Given the description of an element on the screen output the (x, y) to click on. 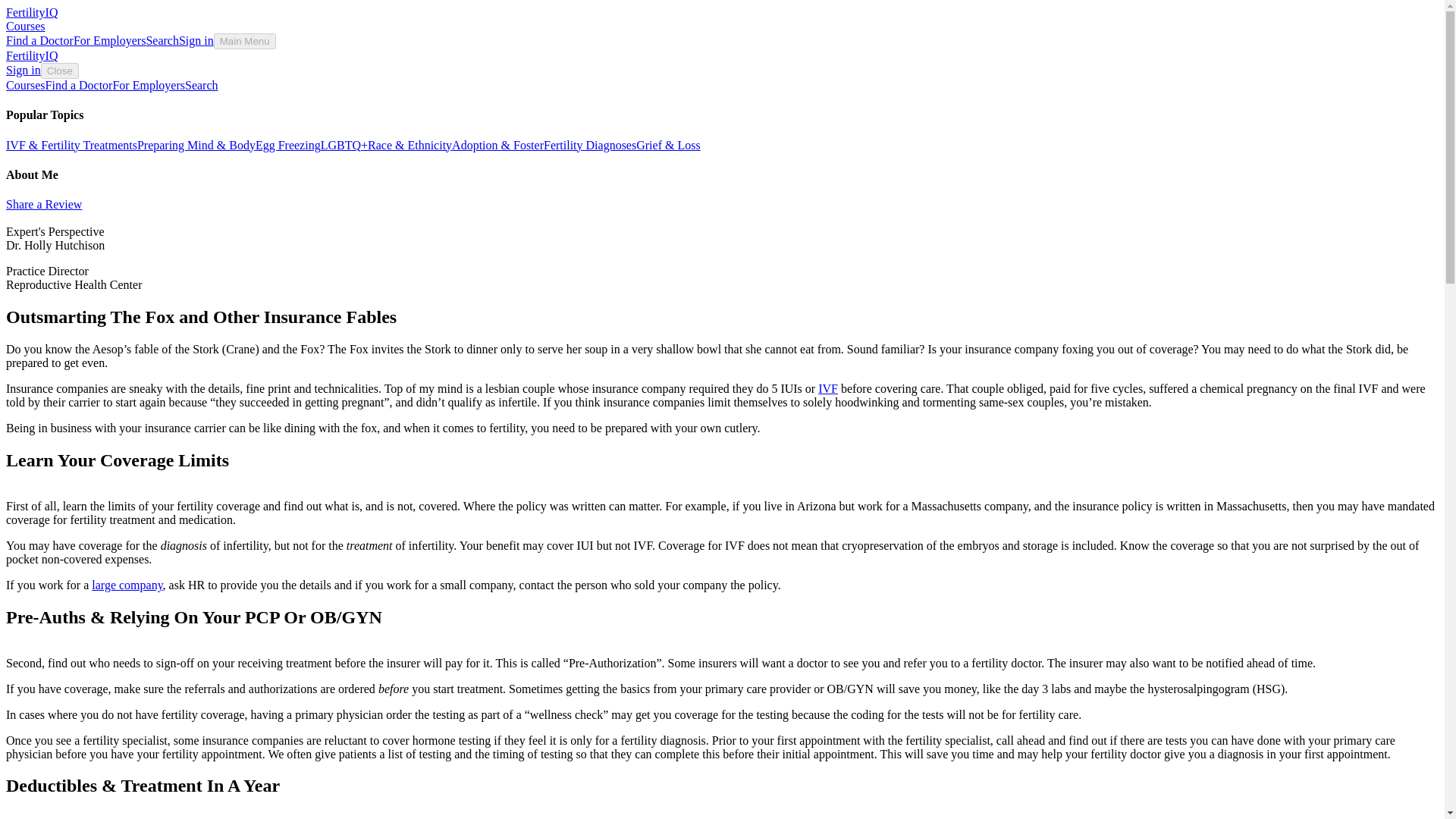
Search (201, 84)
Search (162, 40)
Share a Review (43, 204)
Courses (25, 25)
large company (126, 584)
For Employers (148, 84)
Close (59, 70)
Find a Doctor (39, 40)
Fertility Diagnoses (589, 144)
Main Menu (245, 41)
Sign in (196, 40)
For Employers (110, 40)
Courses (25, 84)
Egg Freezing (288, 144)
Find a Doctor (79, 84)
